Given the description of an element on the screen output the (x, y) to click on. 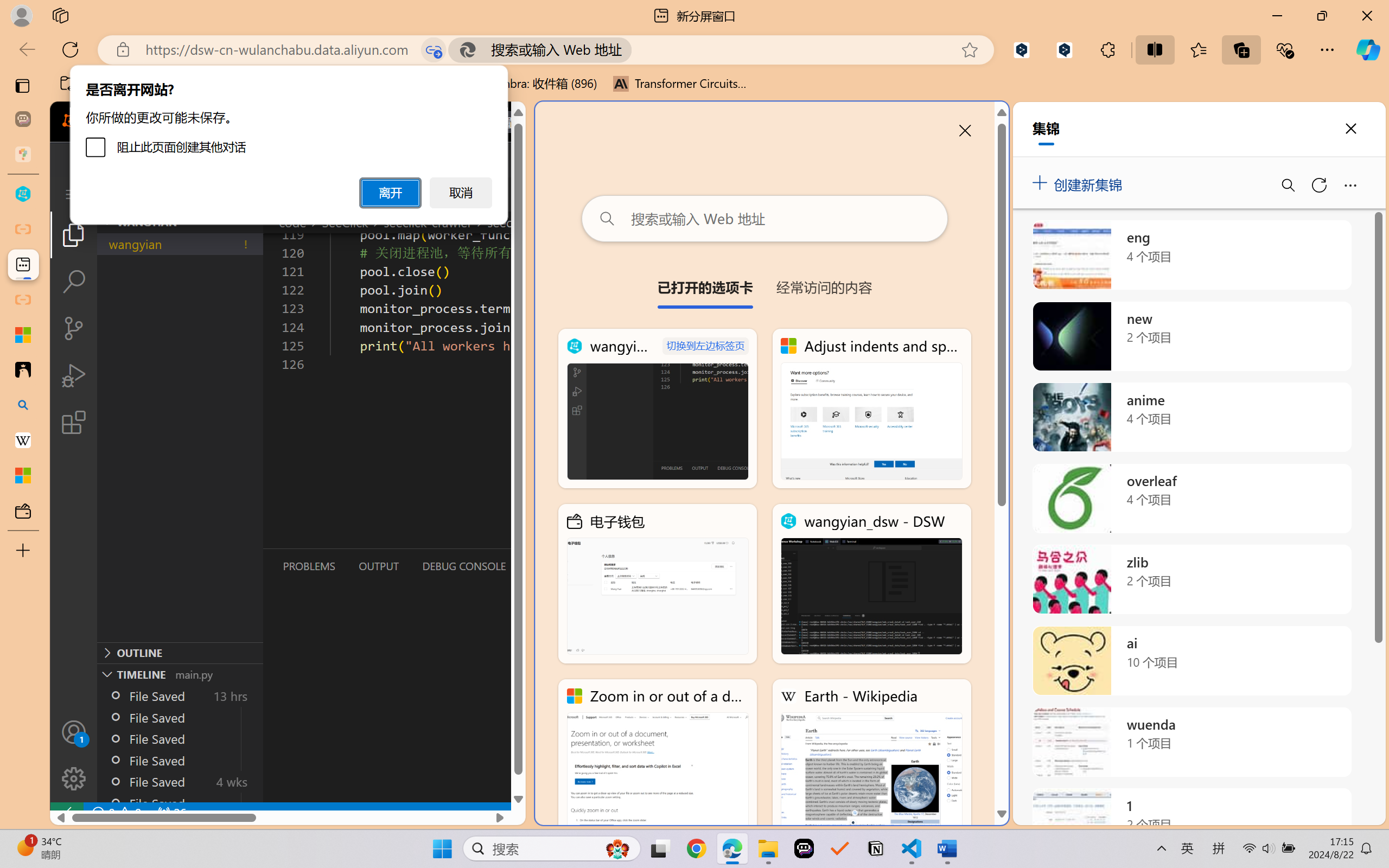
Paste (15, 51)
Convert to SmartArt (462, 77)
Font (209, 52)
Connector: Elbow Arrow (550, 60)
Record (1234, 29)
Underline (199, 71)
Spell Check No Errors (52, 837)
Left Brace (562, 72)
Undo (88, 9)
Find... (722, 46)
Slide Show (1267, 837)
Bullets (333, 52)
Dictate (774, 62)
